Given the description of an element on the screen output the (x, y) to click on. 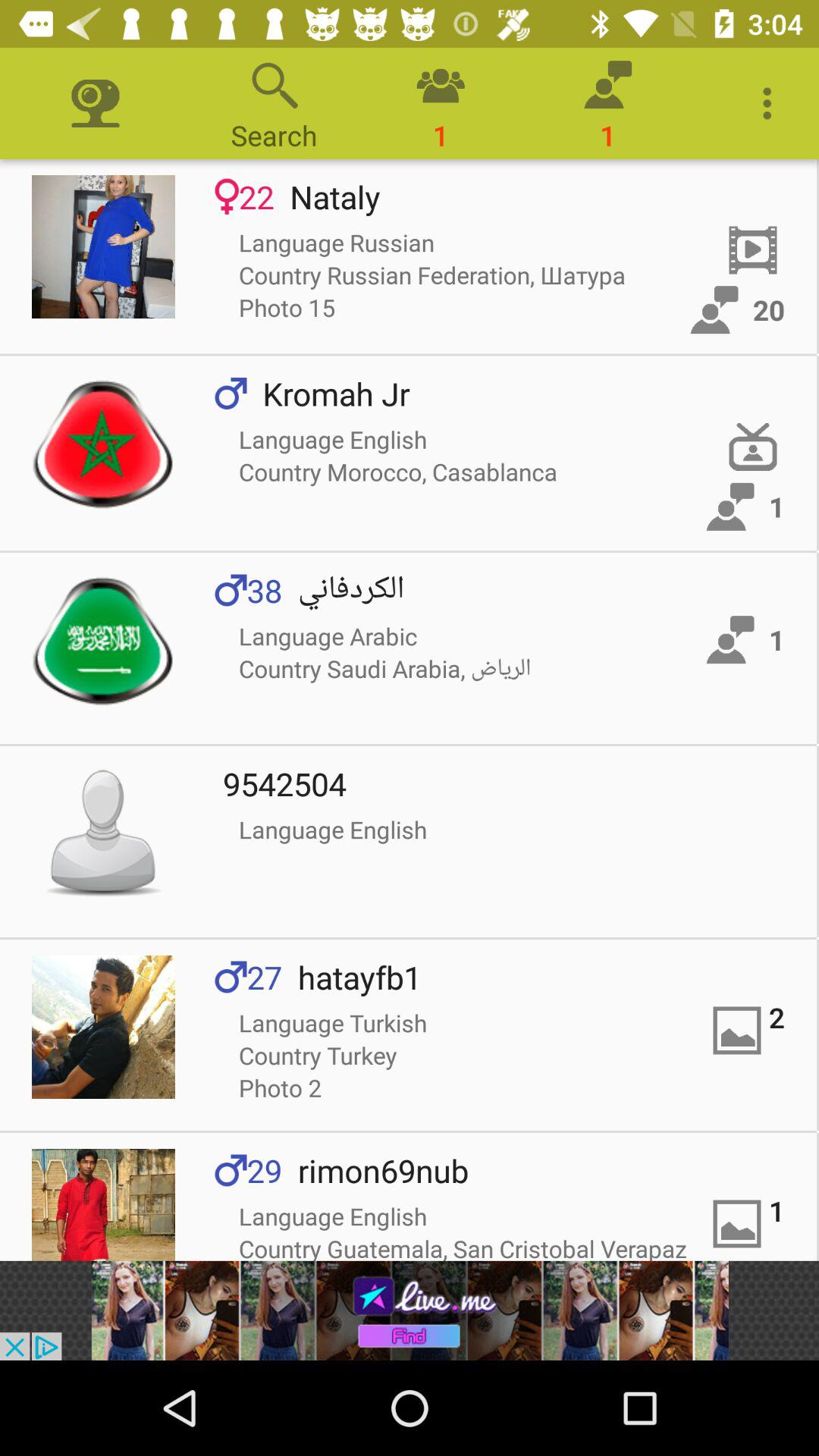
open app (103, 1204)
